Given the description of an element on the screen output the (x, y) to click on. 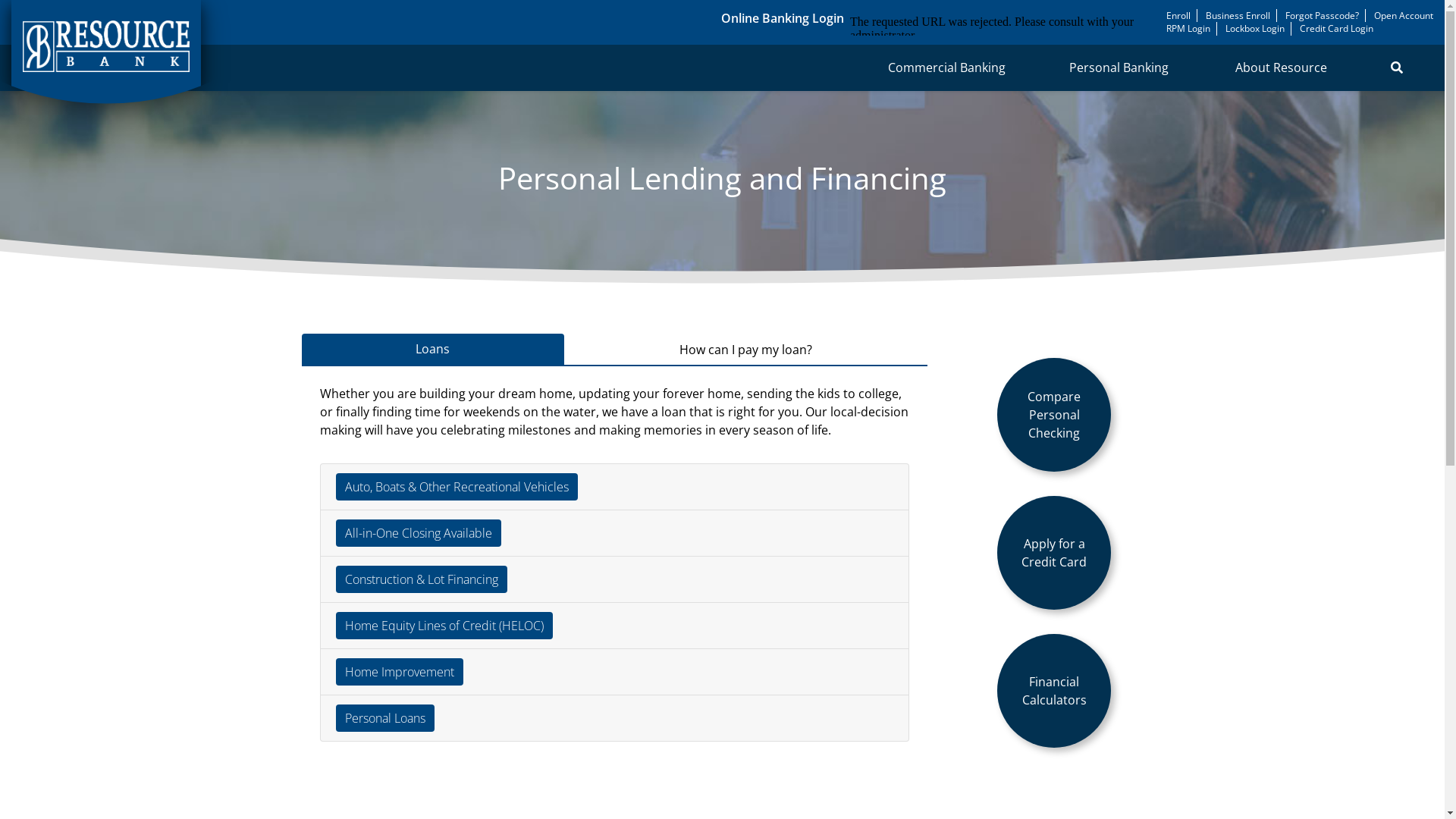
Commercial Banking Element type: text (948, 67)
Compare Personal Checking Element type: text (1053, 414)
Financial Calculators Element type: text (1053, 690)
Search Element type: text (1396, 67)
Personal Loans Element type: text (384, 717)
All-in-One Closing Available Element type: text (417, 532)
Loans Element type: text (432, 349)
RPM Login Element type: text (1188, 28)
About Resource Element type: text (1282, 67)
Forgot Passcode? Element type: text (1321, 15)
Business Enroll Element type: text (1237, 15)
Open Account Element type: text (1403, 15)
Resource Bank Element type: text (105, 52)
Home Equity Lines of Credit (HELOC) Element type: text (443, 625)
Construction & Lot Financing Element type: text (420, 579)
How can I pay my loan? Element type: text (745, 349)
Home Improvement Element type: text (398, 671)
Auto, Boats & Other Recreational Vehicles Element type: text (456, 486)
Apply for a
Credit Card Element type: text (1053, 552)
Enroll Element type: text (1178, 15)
Lockbox Login Element type: text (1254, 28)
Credit Card Login Element type: text (1336, 28)
Personal Banking Element type: text (1121, 67)
